Given the description of an element on the screen output the (x, y) to click on. 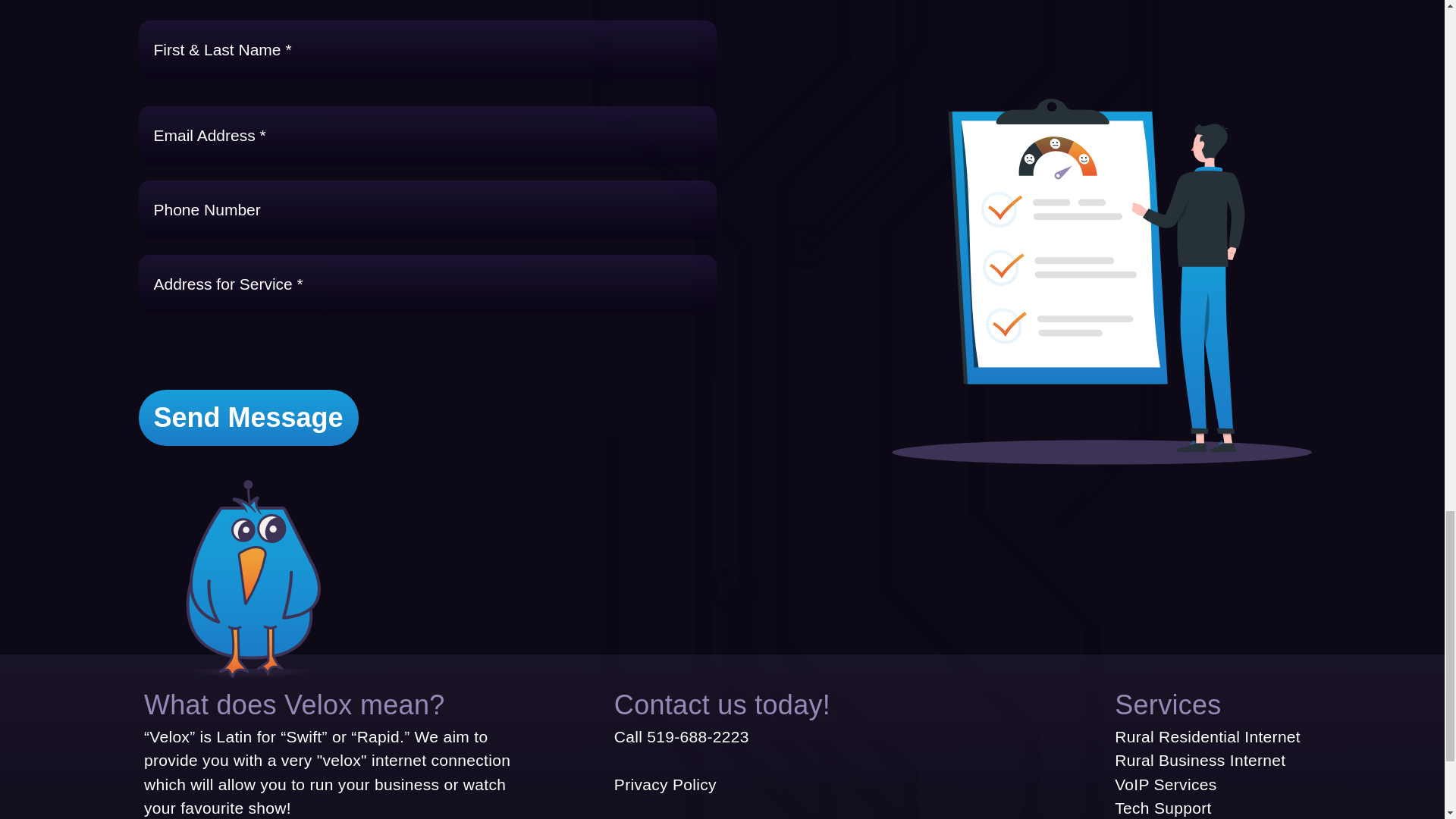
Send Message (248, 417)
Privacy Policy (665, 784)
VoIP Services (1165, 784)
Call 519-688-2223 (681, 736)
Rural Business Internet (1200, 760)
Send Message (248, 417)
Tech Support (1163, 807)
Rural Residential Internet (1207, 736)
